Given the description of an element on the screen output the (x, y) to click on. 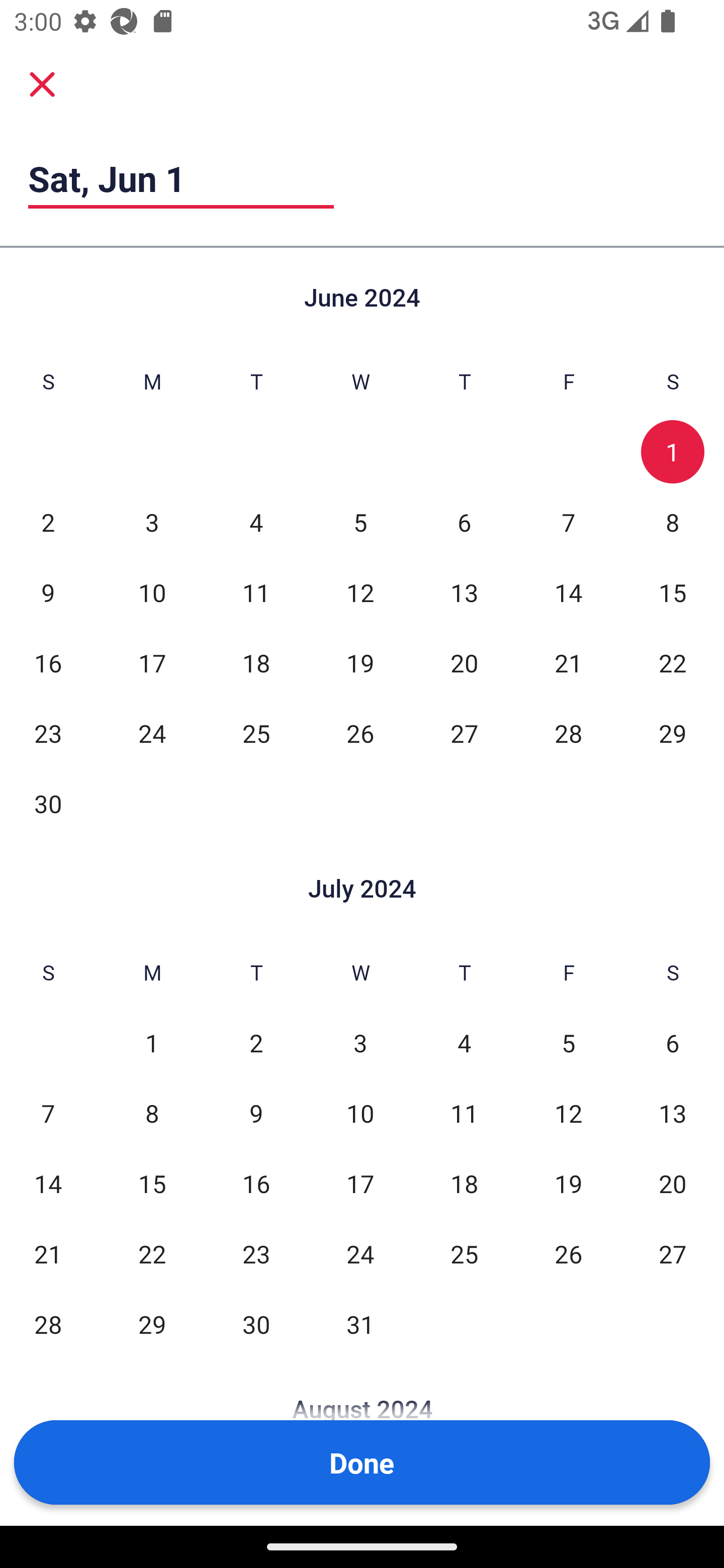
Cancel (41, 83)
Sat, Jun 1 (180, 178)
1 Sat, Jun 1, Selected (672, 452)
2 Sun, Jun 2, Not Selected (48, 521)
3 Mon, Jun 3, Not Selected (152, 521)
4 Tue, Jun 4, Not Selected (256, 521)
5 Wed, Jun 5, Not Selected (360, 521)
6 Thu, Jun 6, Not Selected (464, 521)
7 Fri, Jun 7, Not Selected (568, 521)
8 Sat, Jun 8, Not Selected (672, 521)
9 Sun, Jun 9, Not Selected (48, 591)
10 Mon, Jun 10, Not Selected (152, 591)
11 Tue, Jun 11, Not Selected (256, 591)
12 Wed, Jun 12, Not Selected (360, 591)
13 Thu, Jun 13, Not Selected (464, 591)
14 Fri, Jun 14, Not Selected (568, 591)
15 Sat, Jun 15, Not Selected (672, 591)
16 Sun, Jun 16, Not Selected (48, 662)
17 Mon, Jun 17, Not Selected (152, 662)
18 Tue, Jun 18, Not Selected (256, 662)
19 Wed, Jun 19, Not Selected (360, 662)
20 Thu, Jun 20, Not Selected (464, 662)
21 Fri, Jun 21, Not Selected (568, 662)
22 Sat, Jun 22, Not Selected (672, 662)
23 Sun, Jun 23, Not Selected (48, 732)
24 Mon, Jun 24, Not Selected (152, 732)
25 Tue, Jun 25, Not Selected (256, 732)
26 Wed, Jun 26, Not Selected (360, 732)
27 Thu, Jun 27, Not Selected (464, 732)
28 Fri, Jun 28, Not Selected (568, 732)
29 Sat, Jun 29, Not Selected (672, 732)
30 Sun, Jun 30, Not Selected (48, 803)
1 Mon, Jul 1, Not Selected (152, 1043)
2 Tue, Jul 2, Not Selected (256, 1043)
3 Wed, Jul 3, Not Selected (360, 1043)
4 Thu, Jul 4, Not Selected (464, 1043)
5 Fri, Jul 5, Not Selected (568, 1043)
6 Sat, Jul 6, Not Selected (672, 1043)
7 Sun, Jul 7, Not Selected (48, 1112)
8 Mon, Jul 8, Not Selected (152, 1112)
9 Tue, Jul 9, Not Selected (256, 1112)
10 Wed, Jul 10, Not Selected (360, 1112)
11 Thu, Jul 11, Not Selected (464, 1112)
12 Fri, Jul 12, Not Selected (568, 1112)
13 Sat, Jul 13, Not Selected (672, 1112)
14 Sun, Jul 14, Not Selected (48, 1182)
15 Mon, Jul 15, Not Selected (152, 1182)
16 Tue, Jul 16, Not Selected (256, 1182)
17 Wed, Jul 17, Not Selected (360, 1182)
18 Thu, Jul 18, Not Selected (464, 1182)
19 Fri, Jul 19, Not Selected (568, 1182)
20 Sat, Jul 20, Not Selected (672, 1182)
21 Sun, Jul 21, Not Selected (48, 1253)
22 Mon, Jul 22, Not Selected (152, 1253)
23 Tue, Jul 23, Not Selected (256, 1253)
24 Wed, Jul 24, Not Selected (360, 1253)
25 Thu, Jul 25, Not Selected (464, 1253)
26 Fri, Jul 26, Not Selected (568, 1253)
27 Sat, Jul 27, Not Selected (672, 1253)
28 Sun, Jul 28, Not Selected (48, 1323)
29 Mon, Jul 29, Not Selected (152, 1323)
30 Tue, Jul 30, Not Selected (256, 1323)
31 Wed, Jul 31, Not Selected (360, 1323)
Done Button Done (361, 1462)
